Given the description of an element on the screen output the (x, y) to click on. 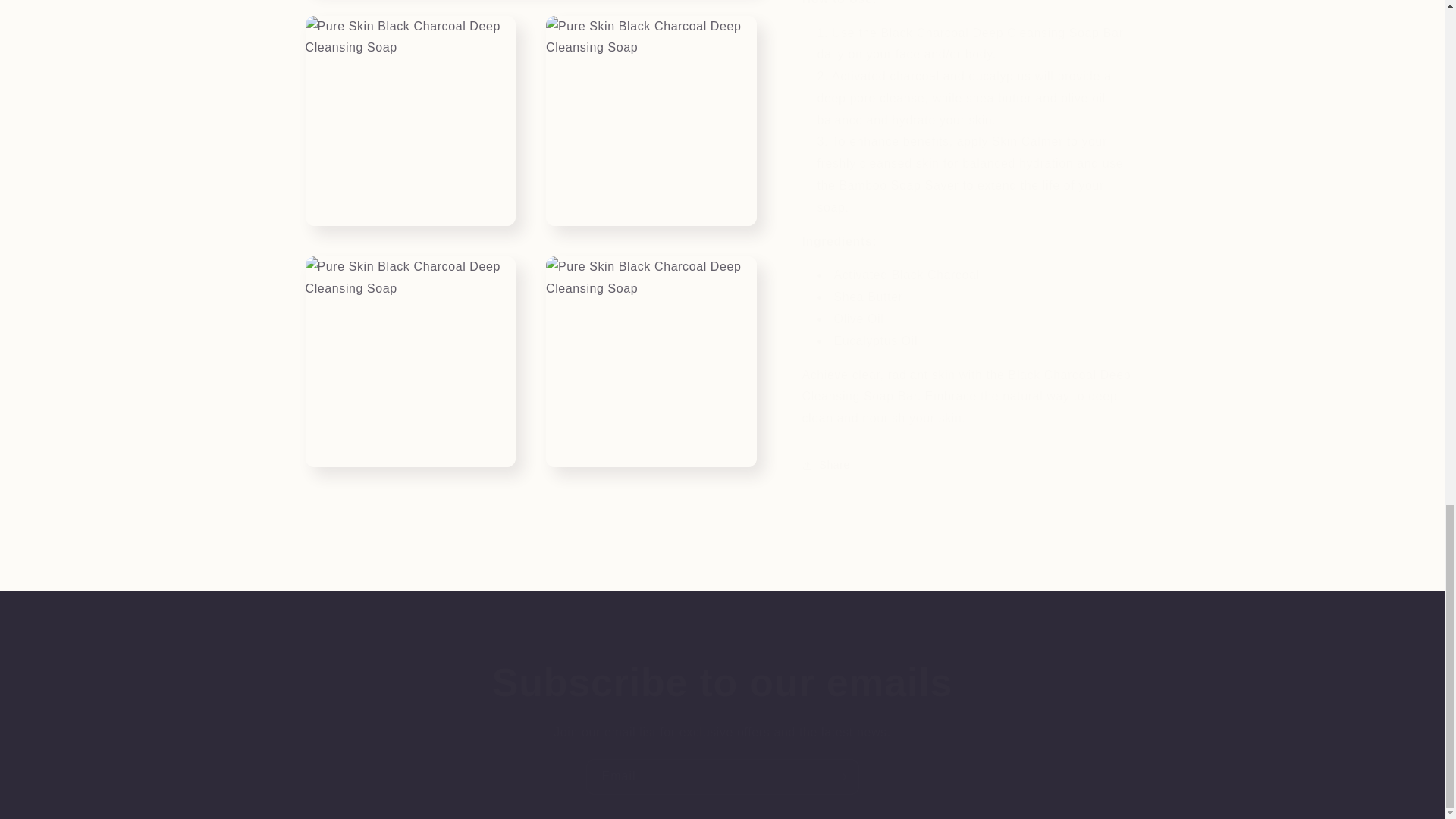
Subscribe to our emails (721, 682)
Email (722, 776)
